Given the description of an element on the screen output the (x, y) to click on. 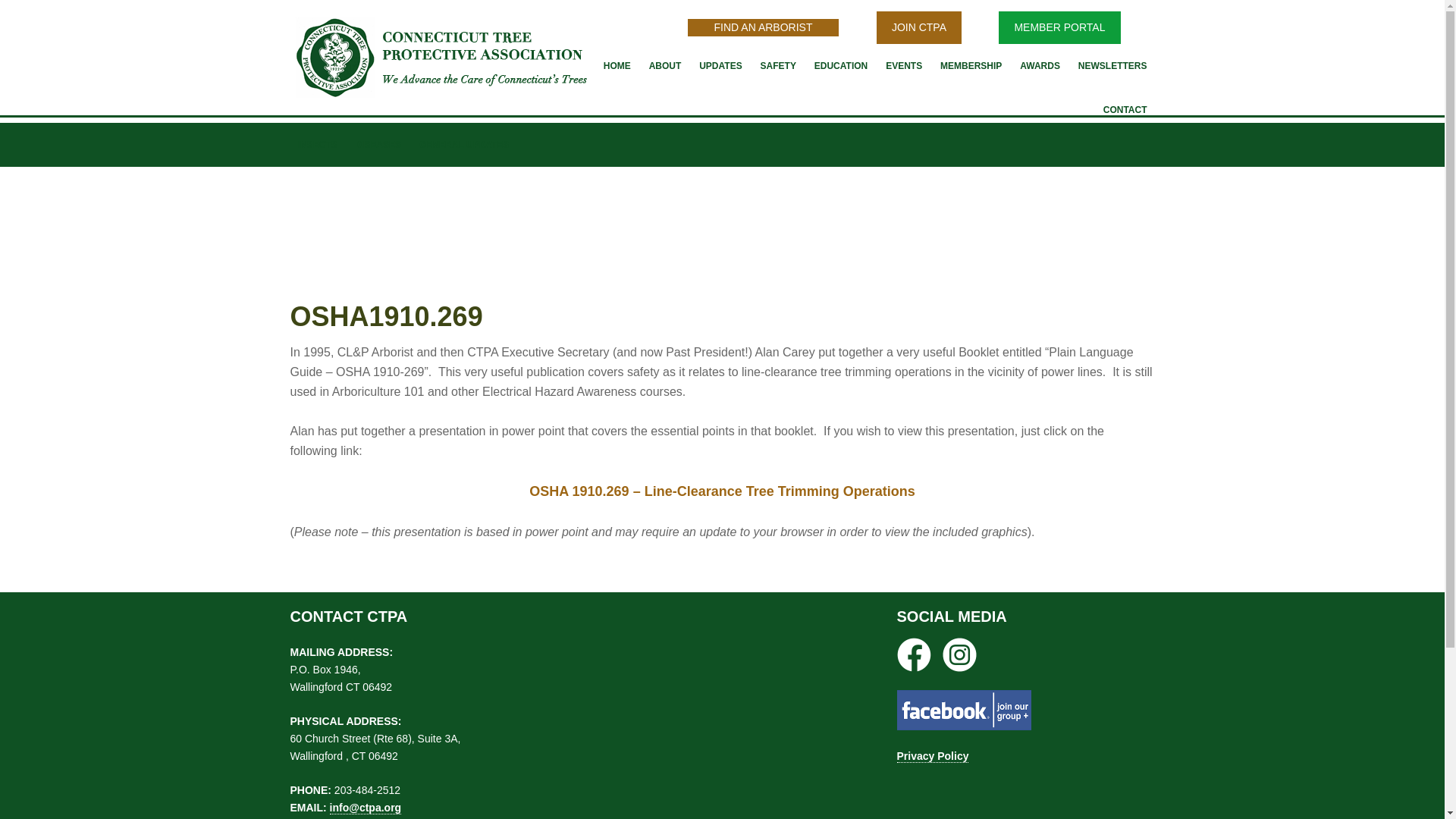
CTPA Updates (720, 65)
NEWSLETTERS (1112, 65)
MEMBERSHIP (971, 65)
MEMBER PORTAL (1058, 27)
HOME (617, 65)
AWARDS (1039, 65)
SAFETY (777, 65)
JOIN CTPA (918, 27)
Privacy Policy (932, 756)
GENERAL UPDATES (464, 144)
INSECTS (316, 144)
About CTPA (665, 65)
Contact CTPA (1125, 109)
UPDATES (720, 65)
CONTACT (1125, 109)
